Given the description of an element on the screen output the (x, y) to click on. 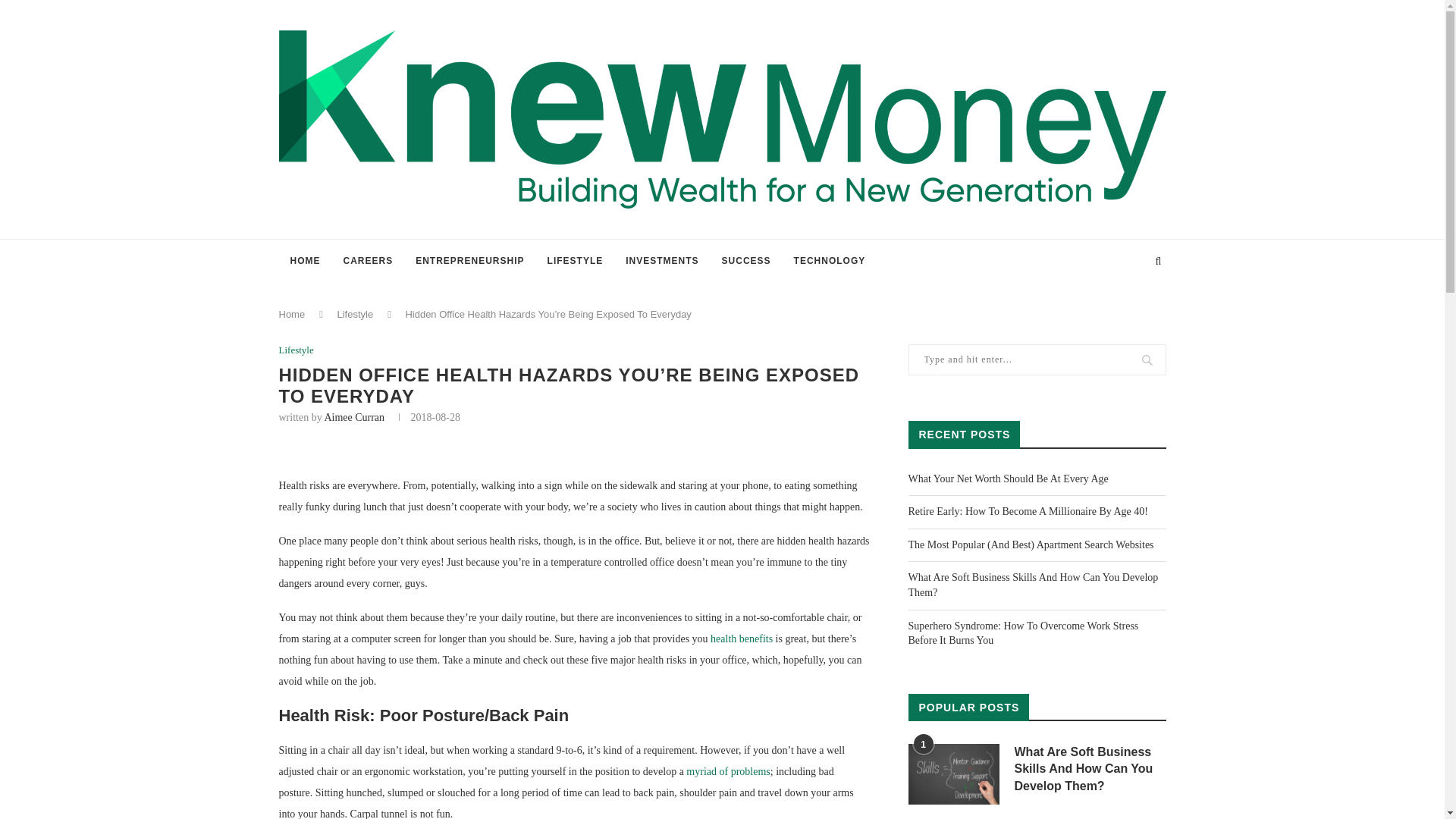
SUCCESS (746, 261)
ENTREPRENEURSHIP (469, 261)
INVESTMENTS (662, 261)
Home (292, 314)
CAREERS (367, 261)
Aimee Curran (353, 417)
health benefits (741, 638)
TECHNOLOGY (830, 261)
Lifestyle (296, 349)
Lifestyle (354, 314)
HOME (305, 261)
myriad of problems (727, 771)
LIFESTYLE (574, 261)
